Given the description of an element on the screen output the (x, y) to click on. 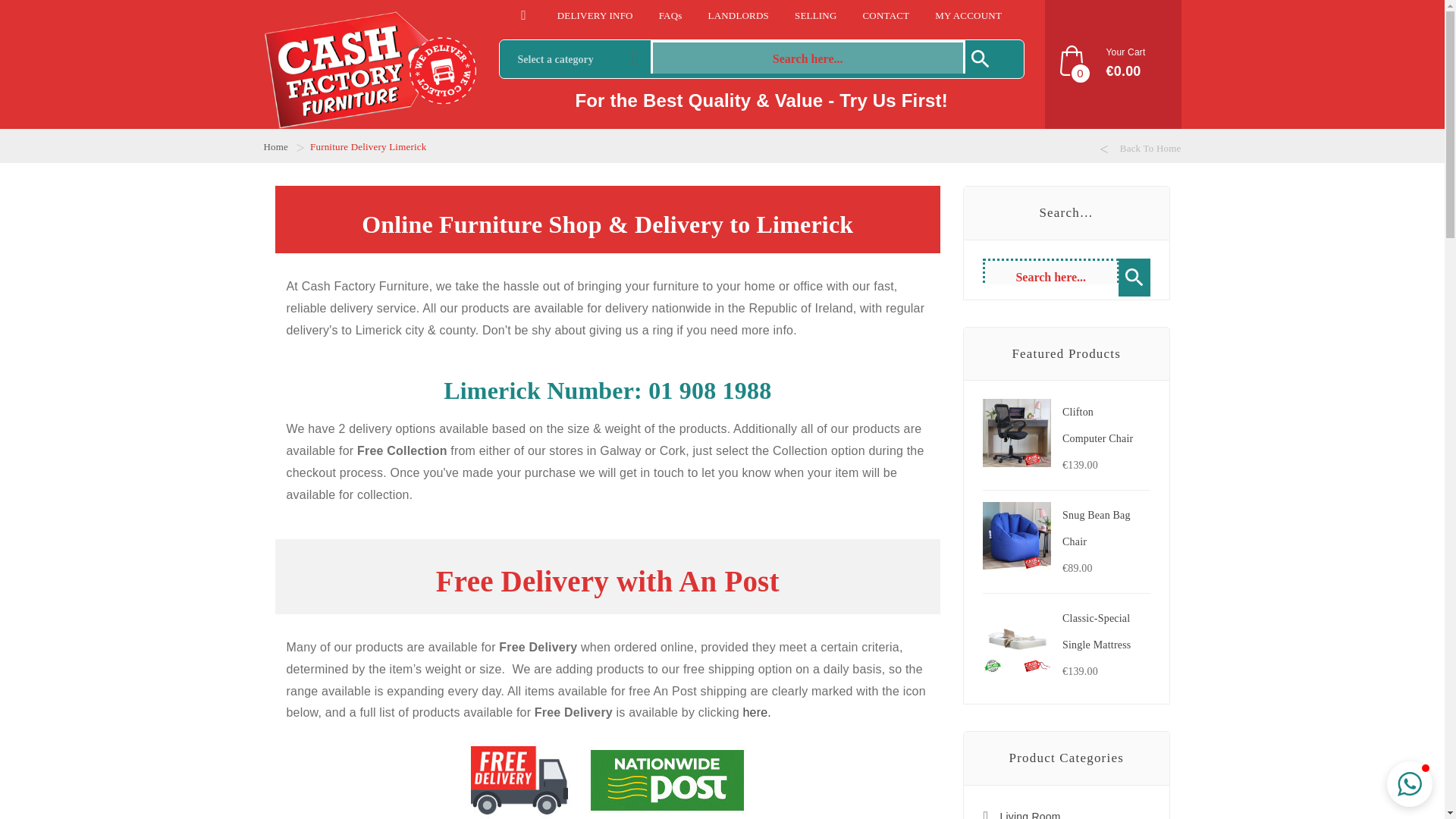
CONTACT (885, 15)
My Account (968, 15)
Limerick Number: 01 908 1988 (607, 390)
0 (1071, 59)
Contact Us (885, 15)
MY ACCOUNT (968, 15)
here. (756, 712)
SELLING (815, 15)
Back To Home (1139, 148)
FAQs (670, 15)
FAQs (670, 15)
Home (275, 146)
View your shopping cart (1112, 64)
Landlords (737, 15)
